Given the description of an element on the screen output the (x, y) to click on. 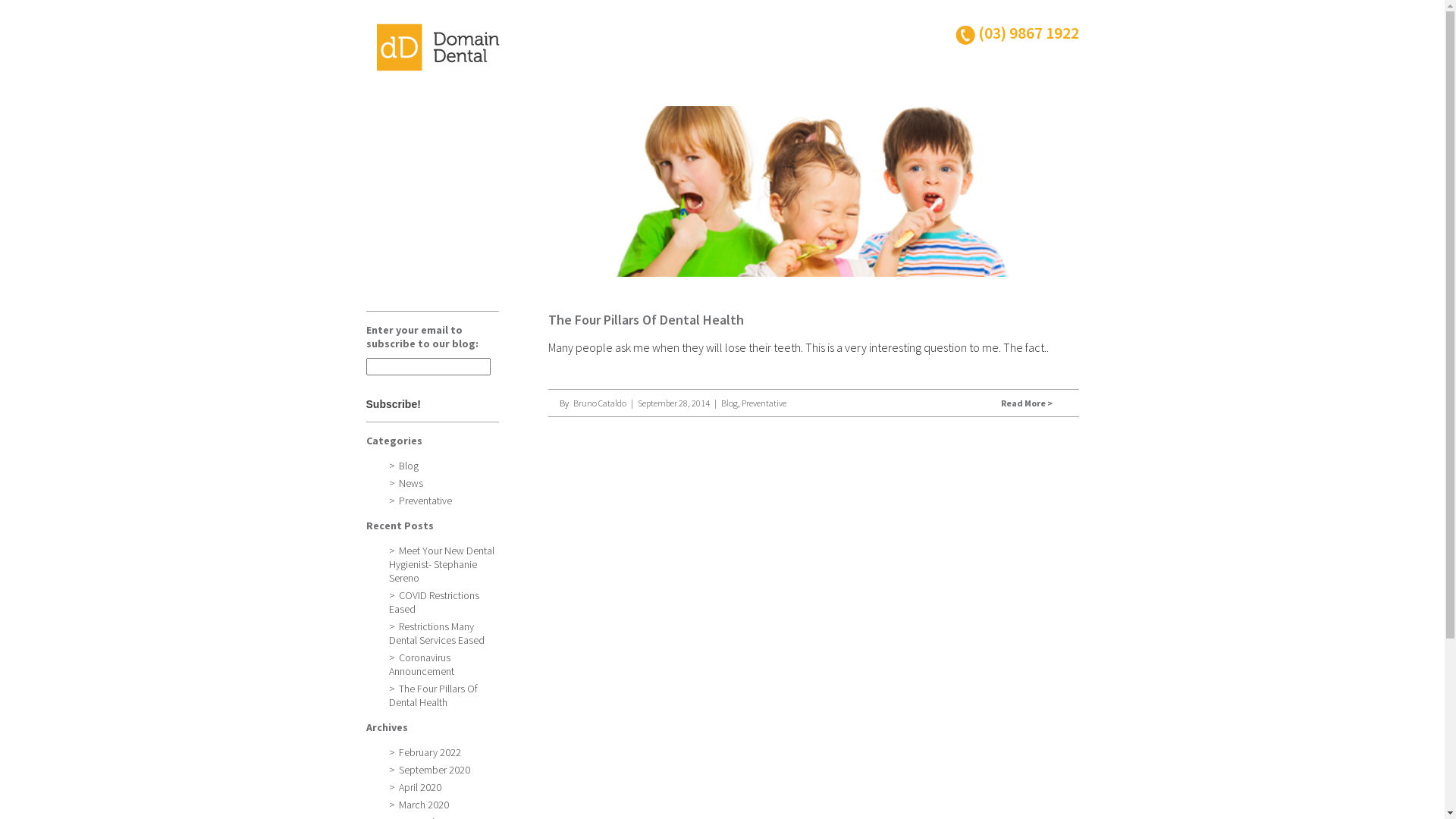
Blog Element type: text (728, 402)
March 2020 Element type: text (418, 804)
COVID Restrictions Eased Element type: text (443, 601)
Preventative Element type: text (419, 500)
Coronavirus Announcement Element type: text (443, 663)
Read More > Element type: text (1030, 402)
The Four Pillars Of Dental Health Element type: text (645, 319)
Subscribe! Element type: text (422, 404)
Restrictions Many Dental Services Eased Element type: text (443, 632)
The Four Pillars Of Dental Health Element type: text (443, 695)
February 2022 Element type: text (424, 752)
Meet Your New Dental Hygienist- Stephanie Sereno Element type: text (443, 563)
September 2020 Element type: text (428, 769)
Enter your email to subscribe to our blog:  Element type: hover (427, 366)
September 28, 2014 Element type: text (673, 402)
Preventative Element type: text (763, 402)
Bruno Cataldo Element type: text (599, 402)
April 2020 Element type: text (414, 786)
News Element type: text (405, 482)
Blog Element type: text (402, 465)
